Given the description of an element on the screen output the (x, y) to click on. 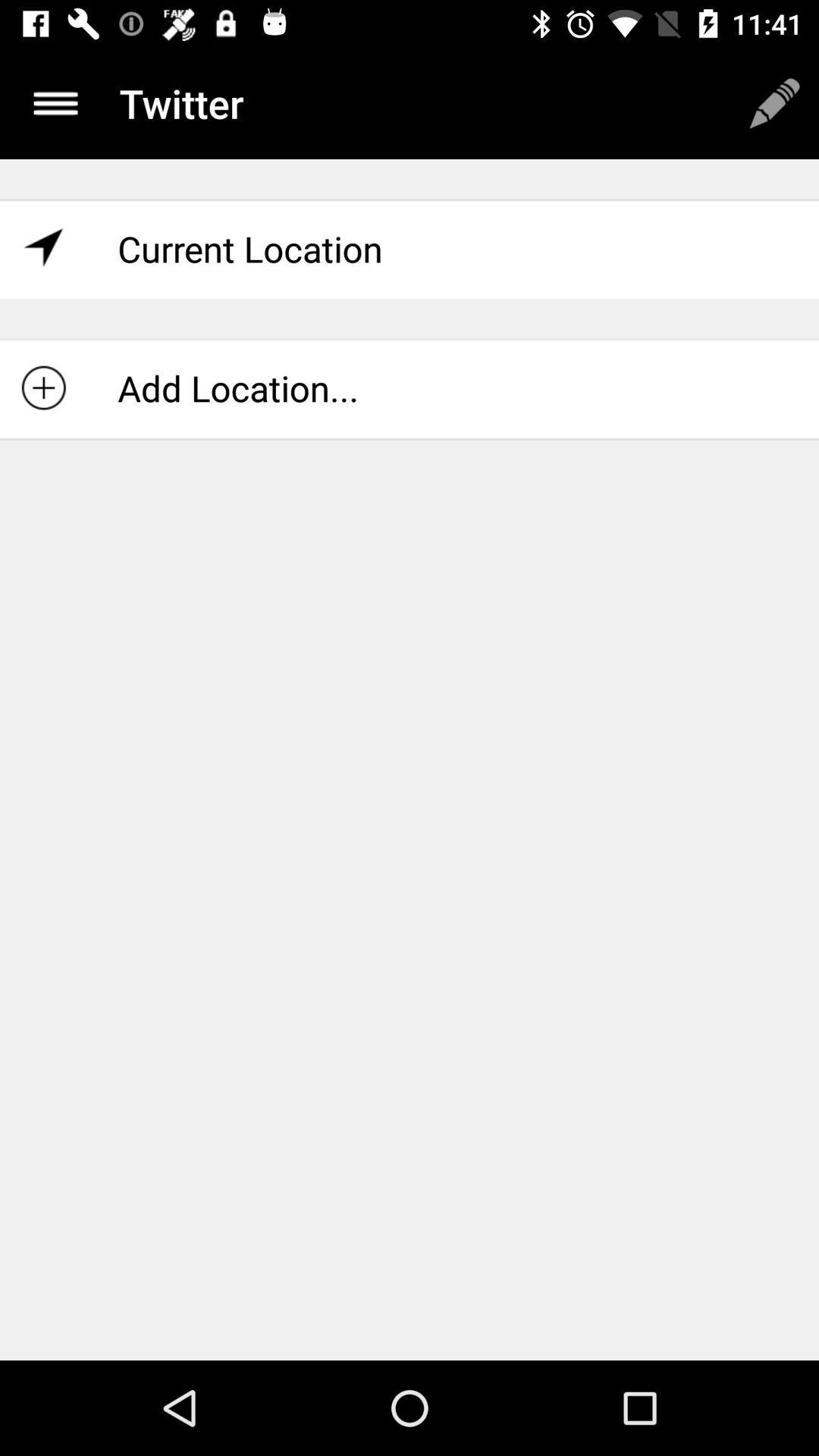
click the icon above add location... item (409, 248)
